Given the description of an element on the screen output the (x, y) to click on. 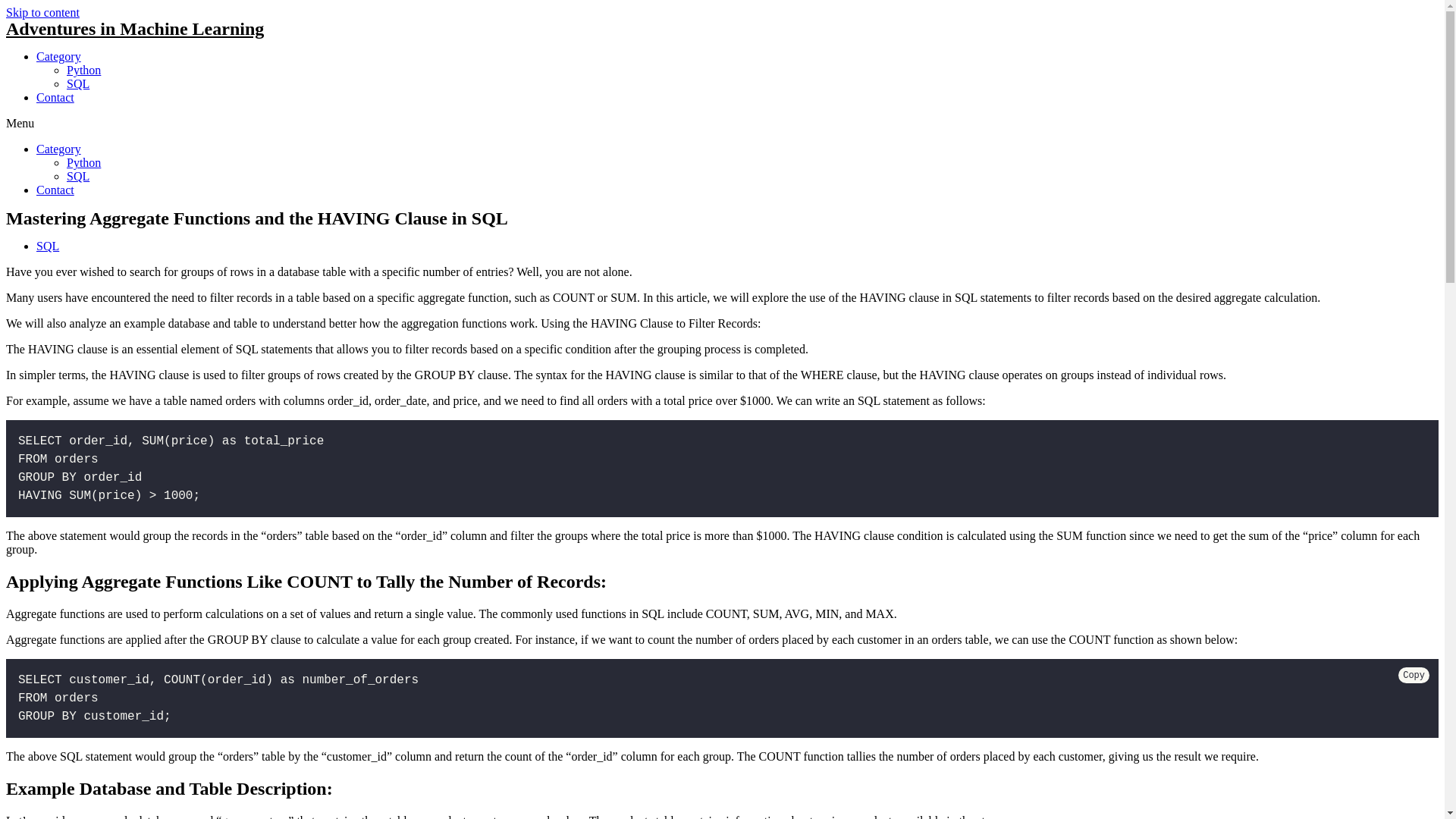
Skip to content (42, 11)
SQL (77, 175)
Contact (55, 97)
Python (83, 162)
Contact (55, 189)
SQL (47, 245)
Adventures in Machine Learning (134, 28)
Category (58, 148)
SQL (77, 83)
Python (83, 69)
Category (58, 56)
